Given the description of an element on the screen output the (x, y) to click on. 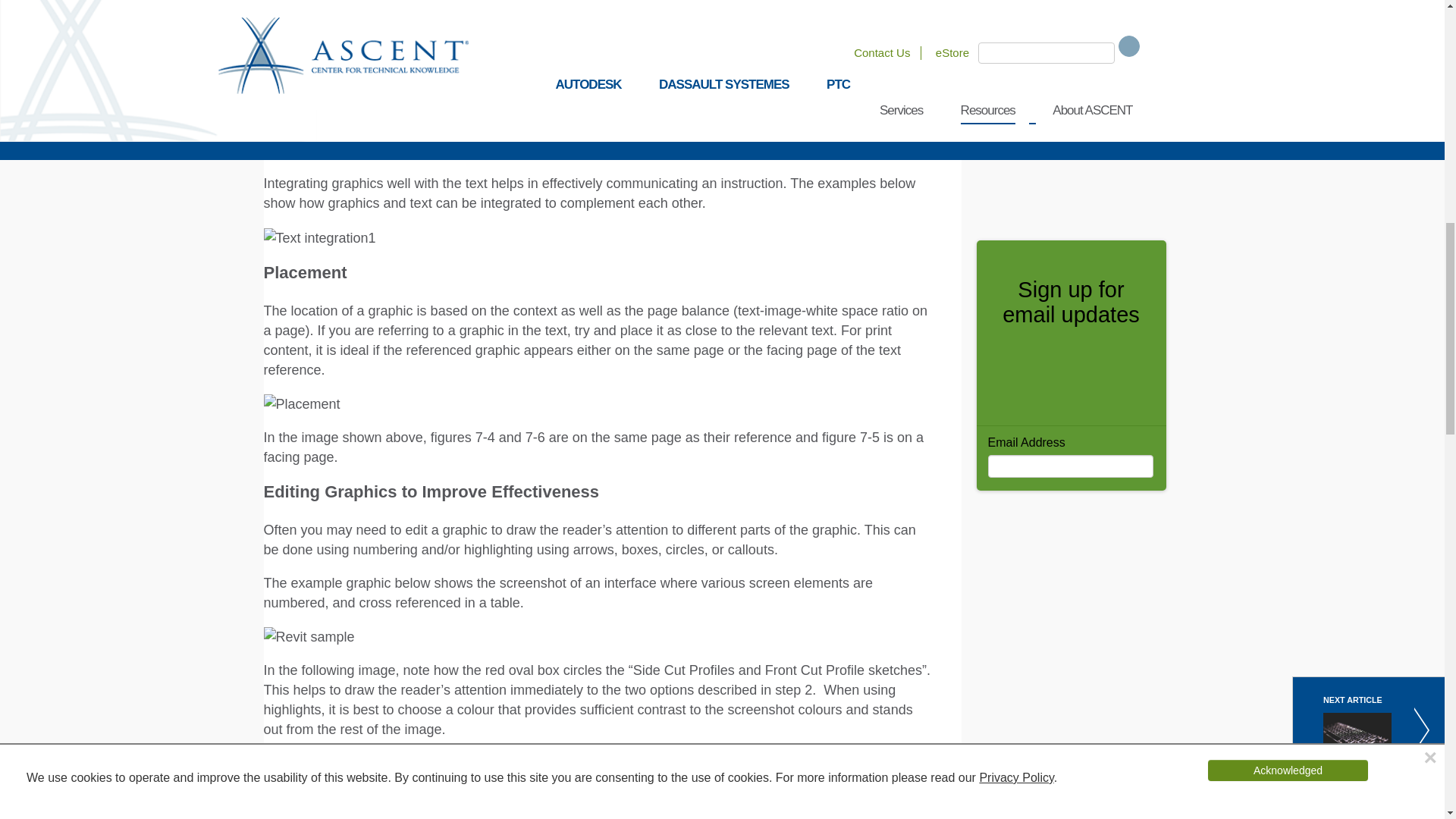
7-7all (285, 71)
Placement (301, 403)
Text integration1 (319, 237)
Revit sample (309, 637)
Side cut profile (314, 763)
